Given the description of an element on the screen output the (x, y) to click on. 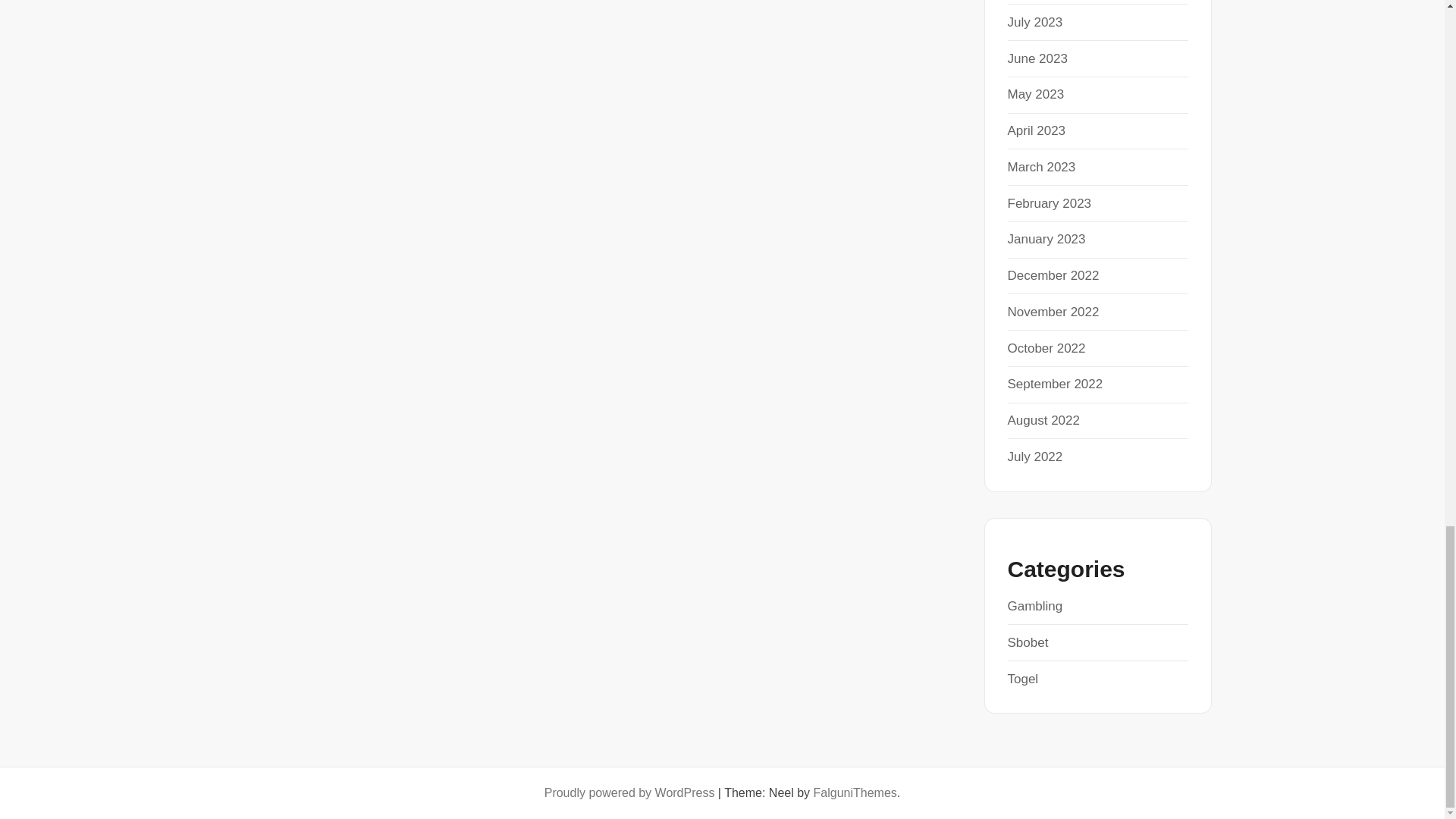
December 2022 (1053, 275)
July 2023 (1034, 22)
March 2023 (1041, 166)
April 2023 (1036, 130)
February 2023 (1048, 203)
June 2023 (1037, 58)
January 2023 (1045, 238)
May 2023 (1035, 93)
